Given the description of an element on the screen output the (x, y) to click on. 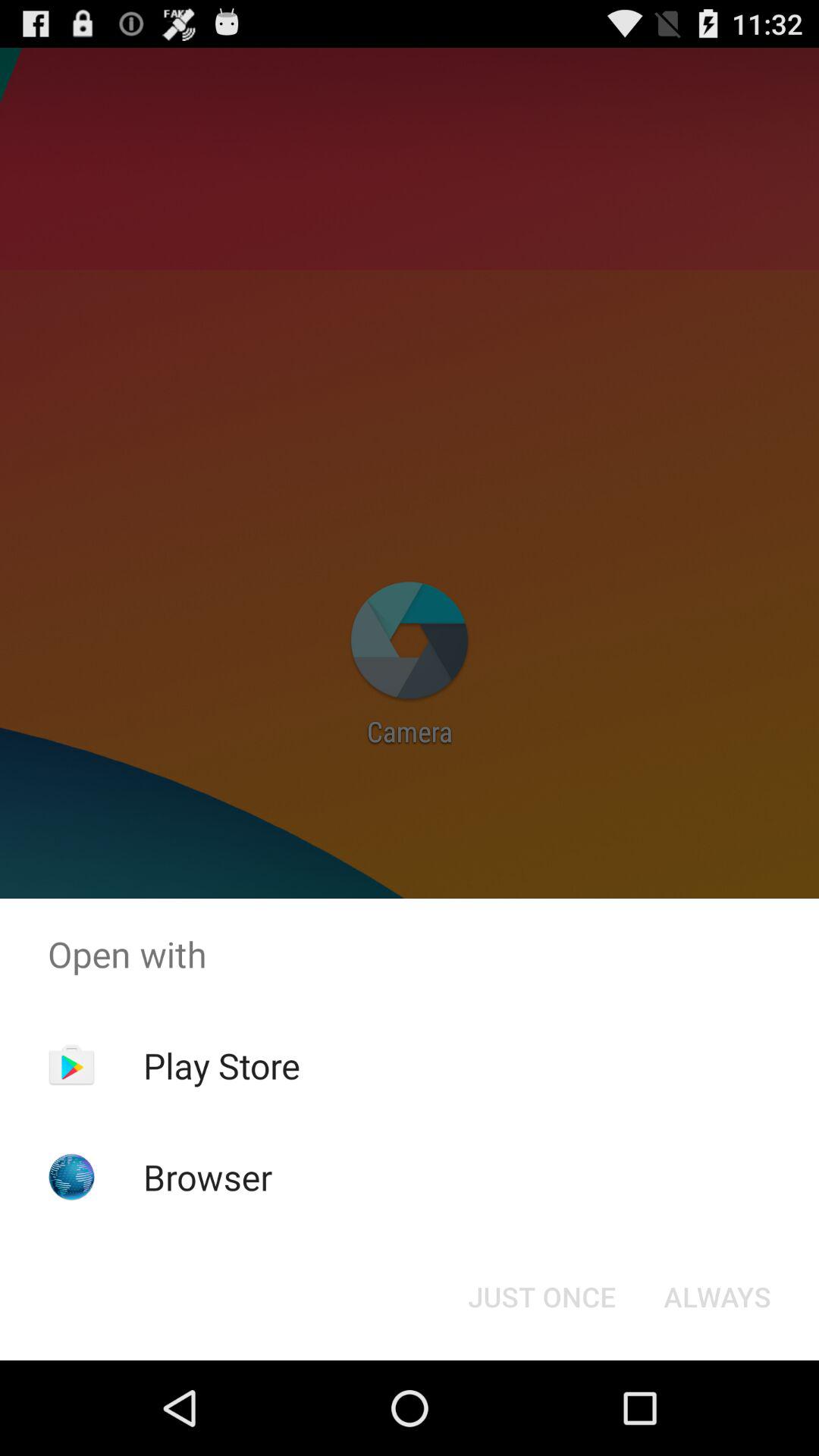
open the button at the bottom right corner (717, 1296)
